Given the description of an element on the screen output the (x, y) to click on. 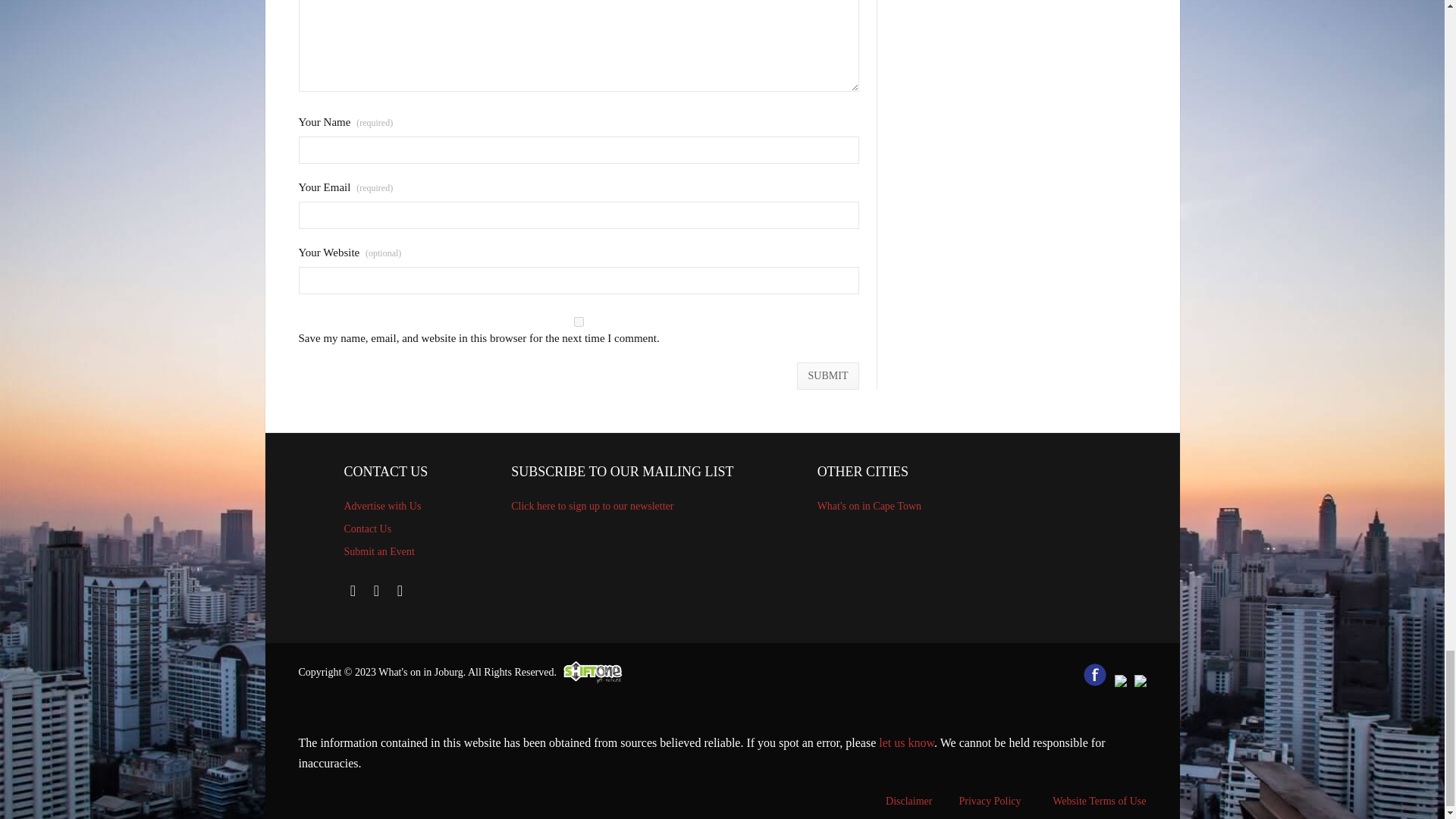
Facebook (352, 590)
yes (579, 321)
Twitter (375, 590)
Submit (828, 375)
Instagram (400, 590)
